Given the description of an element on the screen output the (x, y) to click on. 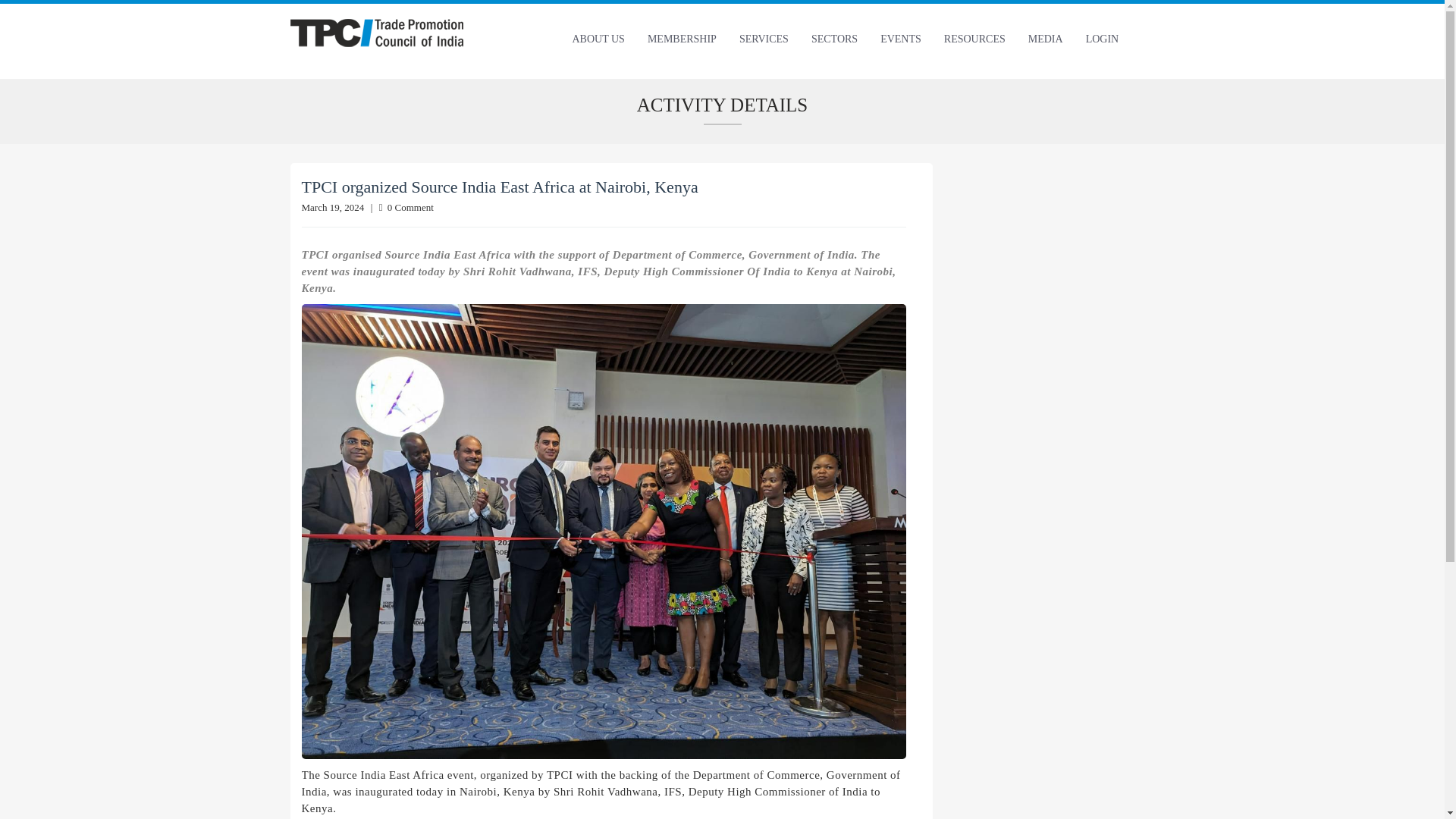
SERVICES (763, 39)
SECTORS (834, 39)
LOGIN (1102, 39)
MEMBERSHIP (682, 39)
EVENTS (901, 39)
ABOUT US (598, 39)
MEDIA (1045, 39)
0 Comment (405, 206)
RESOURCES (974, 39)
